Given the description of an element on the screen output the (x, y) to click on. 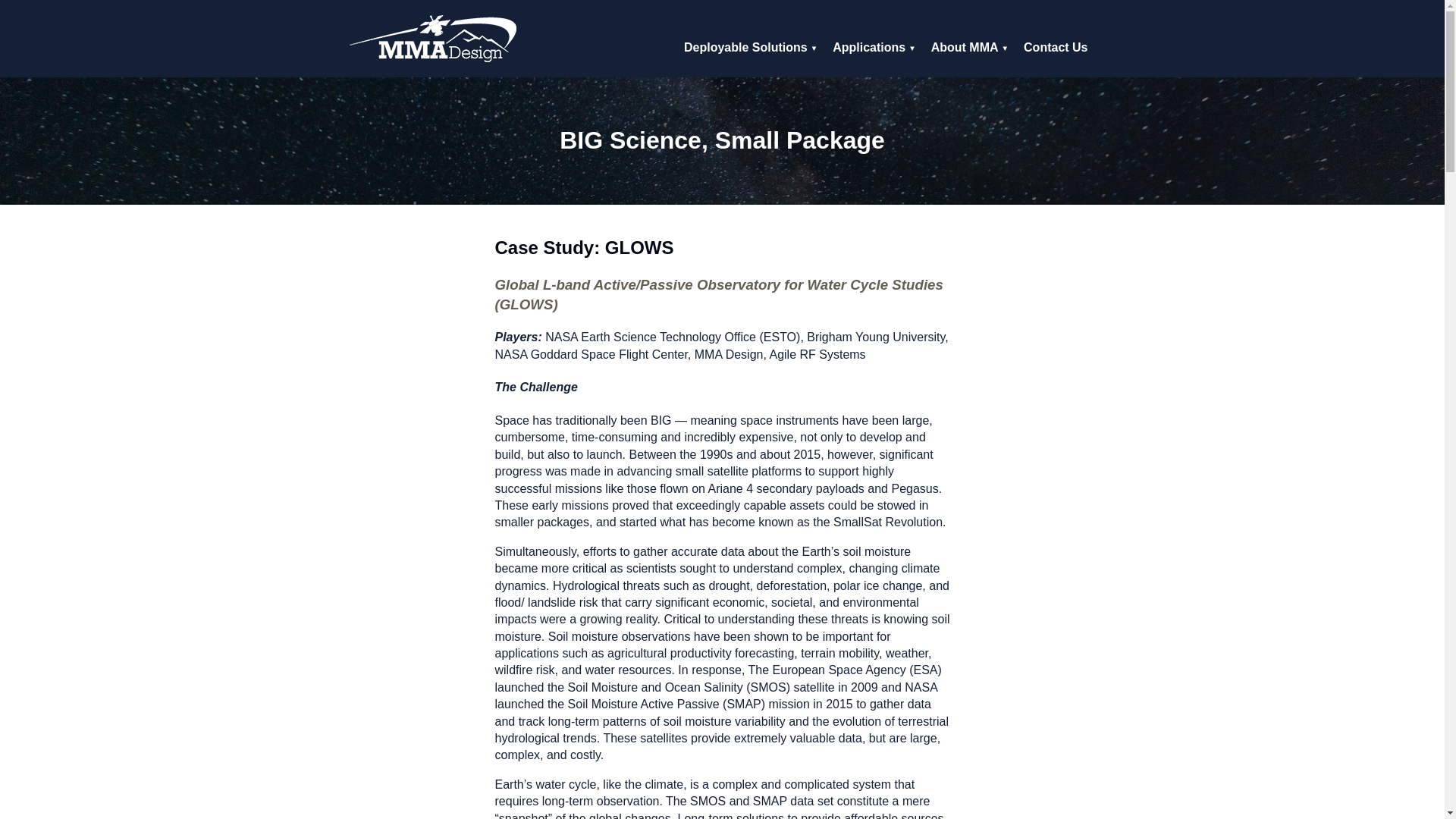
Deployable Solutions (751, 47)
About MMA (969, 47)
Contact Us (1055, 47)
Applications (874, 47)
